Given the description of an element on the screen output the (x, y) to click on. 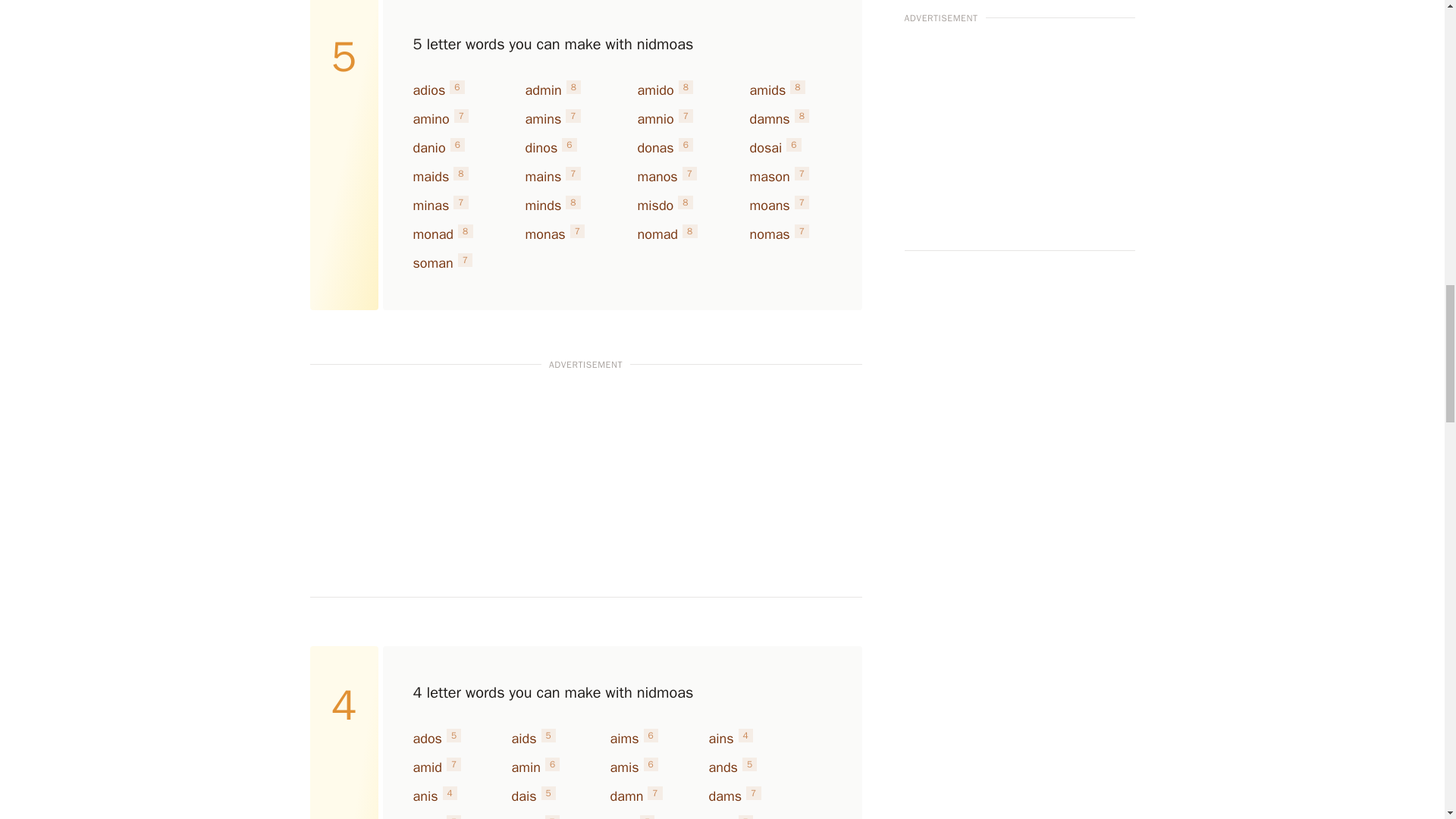
admin (542, 89)
minas (430, 205)
maids (430, 176)
mains (542, 176)
amids (767, 89)
adios (428, 89)
mason (769, 176)
moans (769, 205)
damns (769, 118)
amido (654, 89)
danio (428, 147)
dosai (765, 147)
donas (654, 147)
misdo (654, 205)
amins (542, 118)
